Given the description of an element on the screen output the (x, y) to click on. 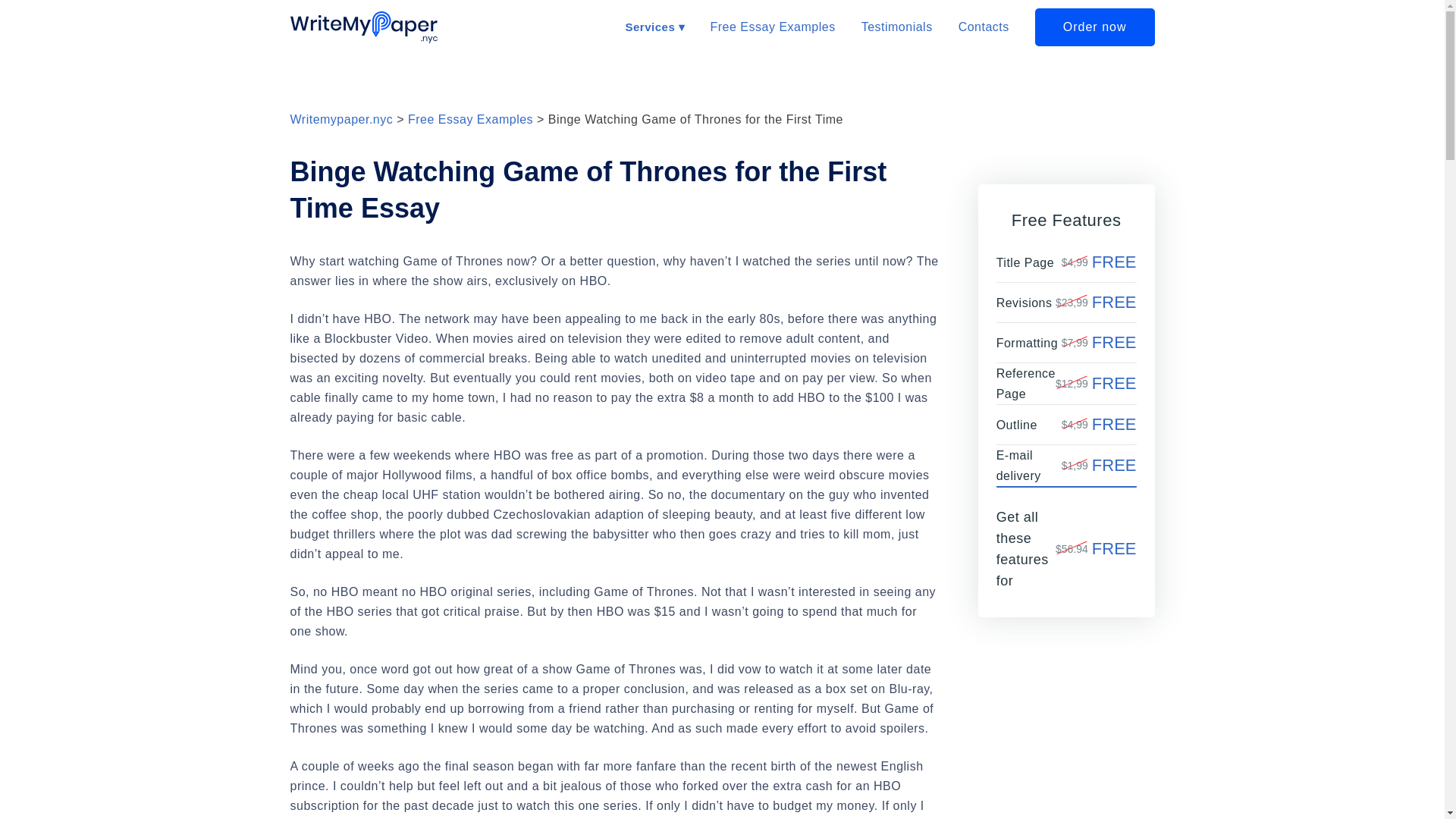
Contacts (983, 26)
Writemypaper.nyc (341, 119)
Order now (1094, 26)
Free Essay Examples (772, 26)
Services (653, 26)
Testimonials (897, 26)
Free Essay Examples (469, 119)
